Given the description of an element on the screen output the (x, y) to click on. 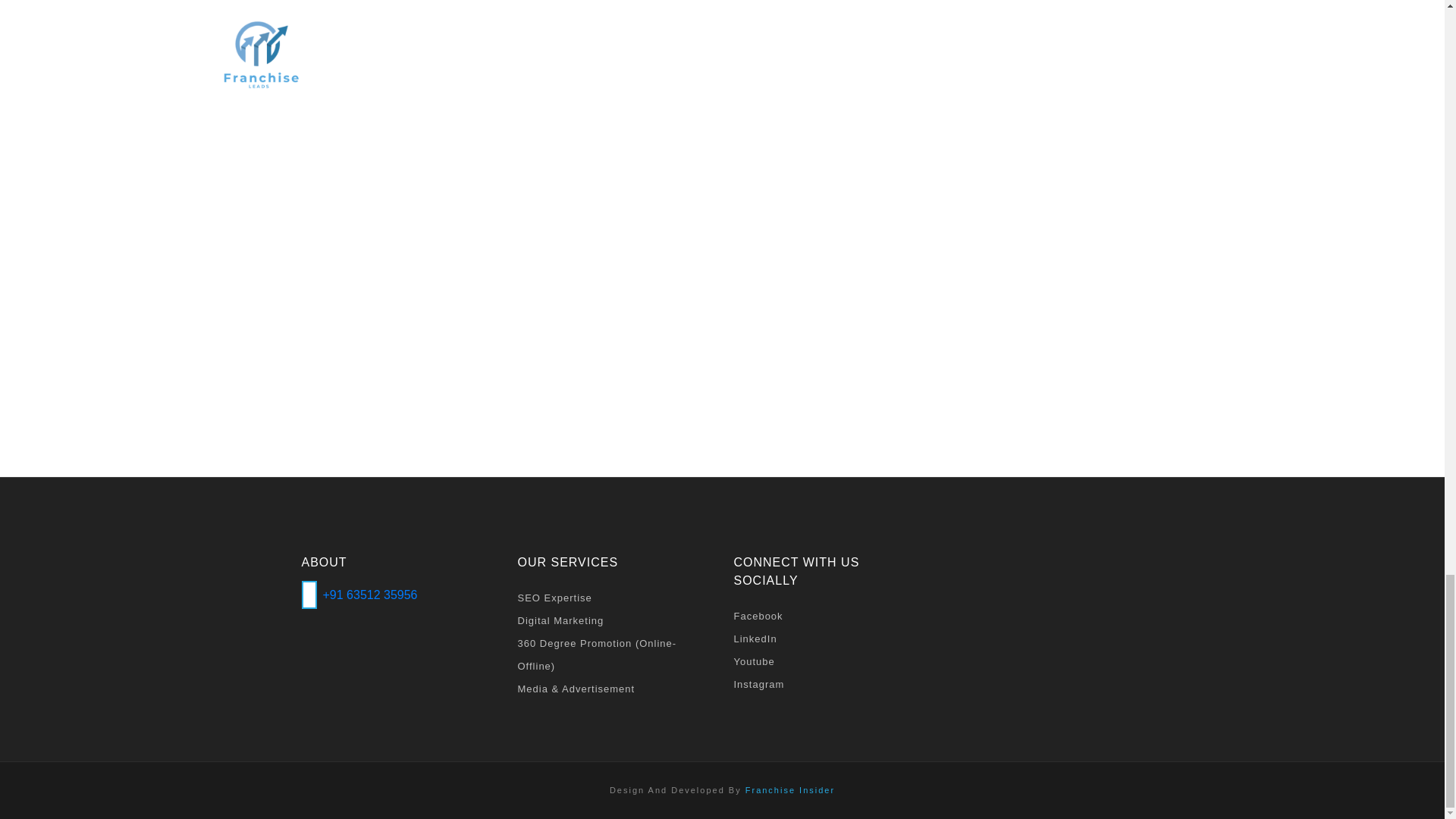
Digital Marketing (613, 620)
Facebook (830, 616)
SEO Expertise (613, 598)
LinkedIn (830, 639)
Youtube (830, 661)
Instagram (830, 684)
Franchise Insider (789, 789)
